Given the description of an element on the screen output the (x, y) to click on. 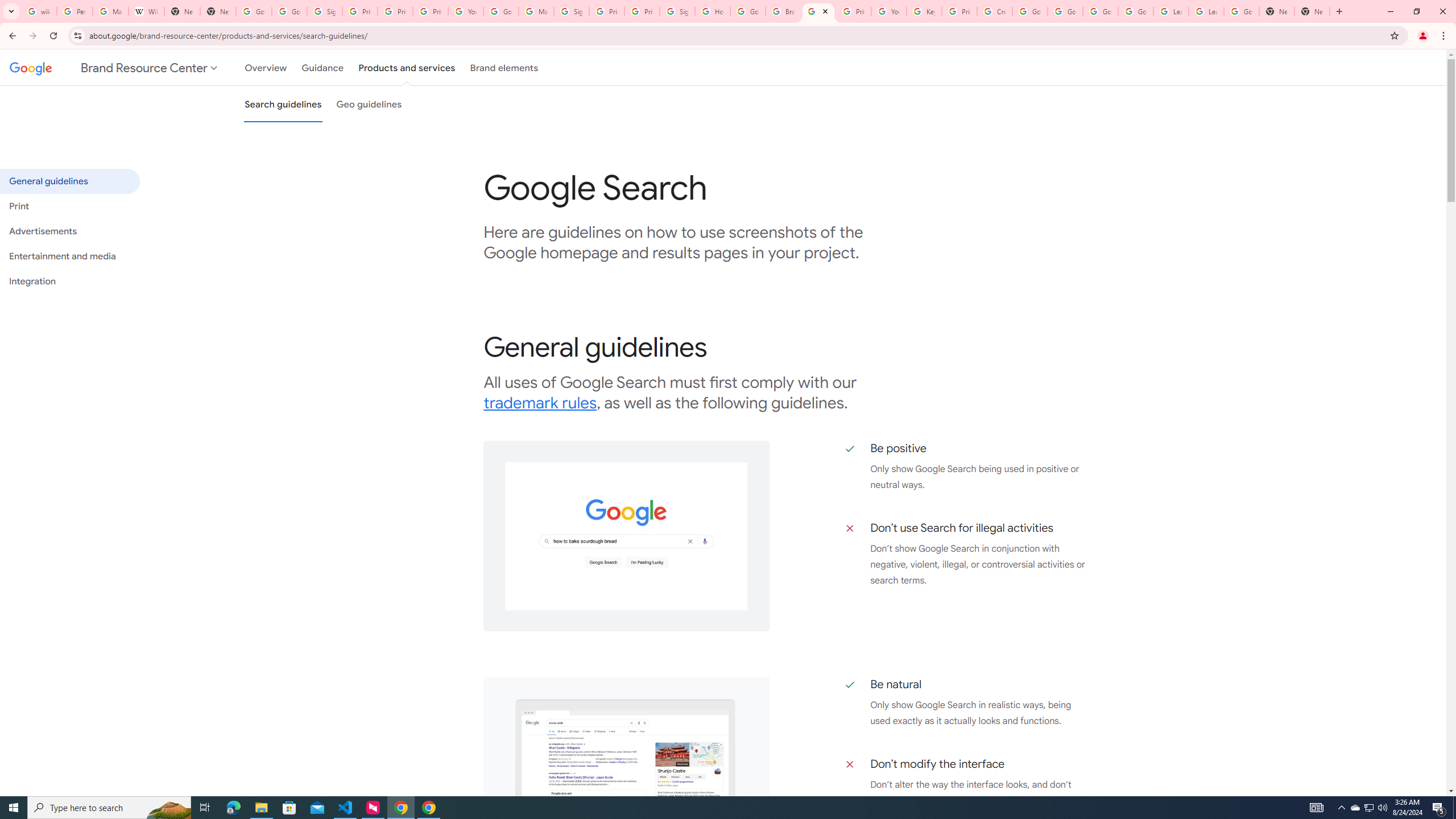
New Tab (218, 11)
Google Account Help (1135, 11)
Wikipedia:Edit requests - Wikipedia (145, 11)
Brand Resource Center (783, 11)
Sign in - Google Accounts (677, 11)
New Tab (1276, 11)
Advertisements (69, 231)
Google (28, 67)
Brand elements (504, 67)
